Given the description of an element on the screen output the (x, y) to click on. 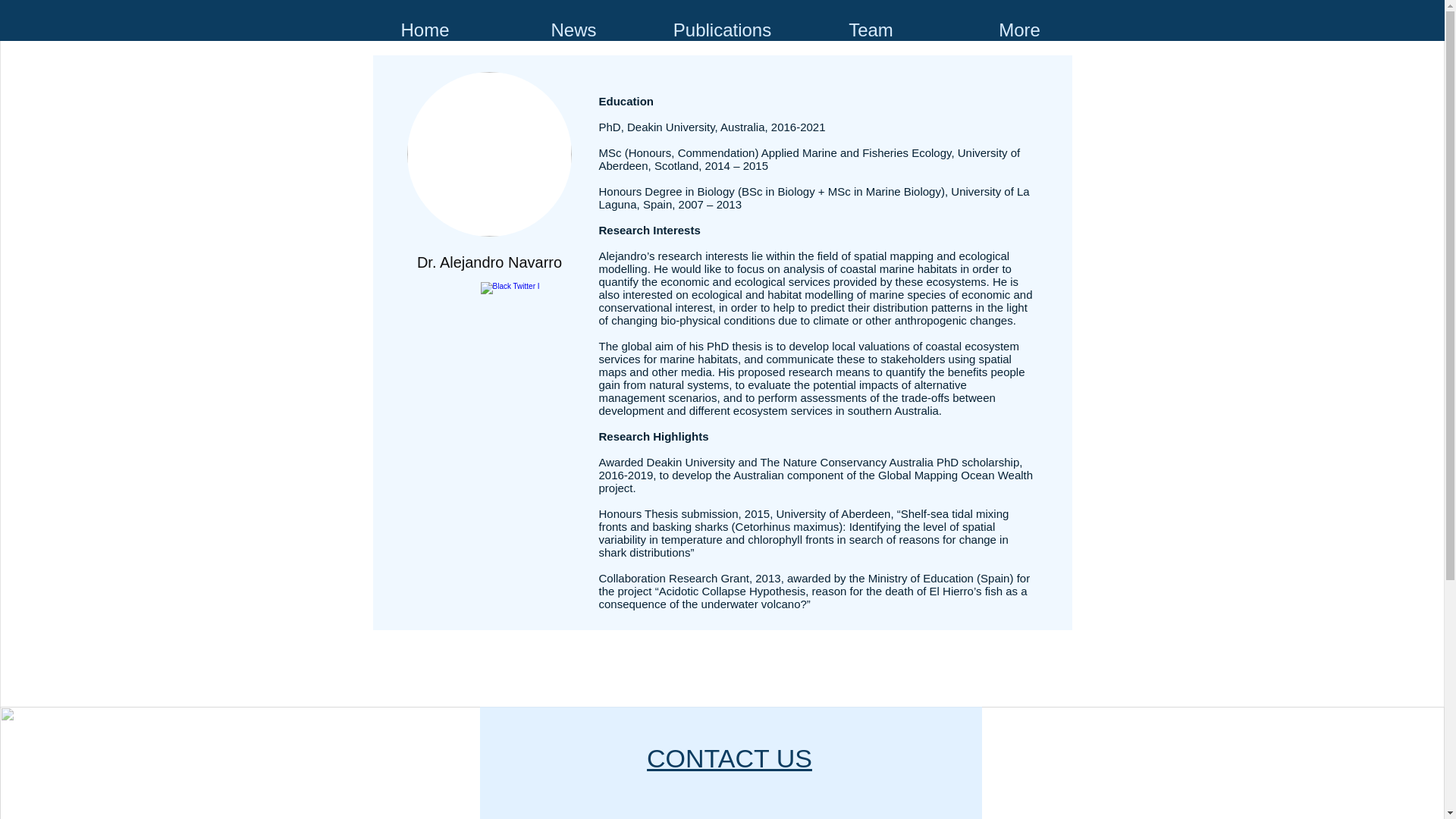
Home (424, 28)
Publications (721, 28)
Team (870, 28)
News (573, 28)
